Given the description of an element on the screen output the (x, y) to click on. 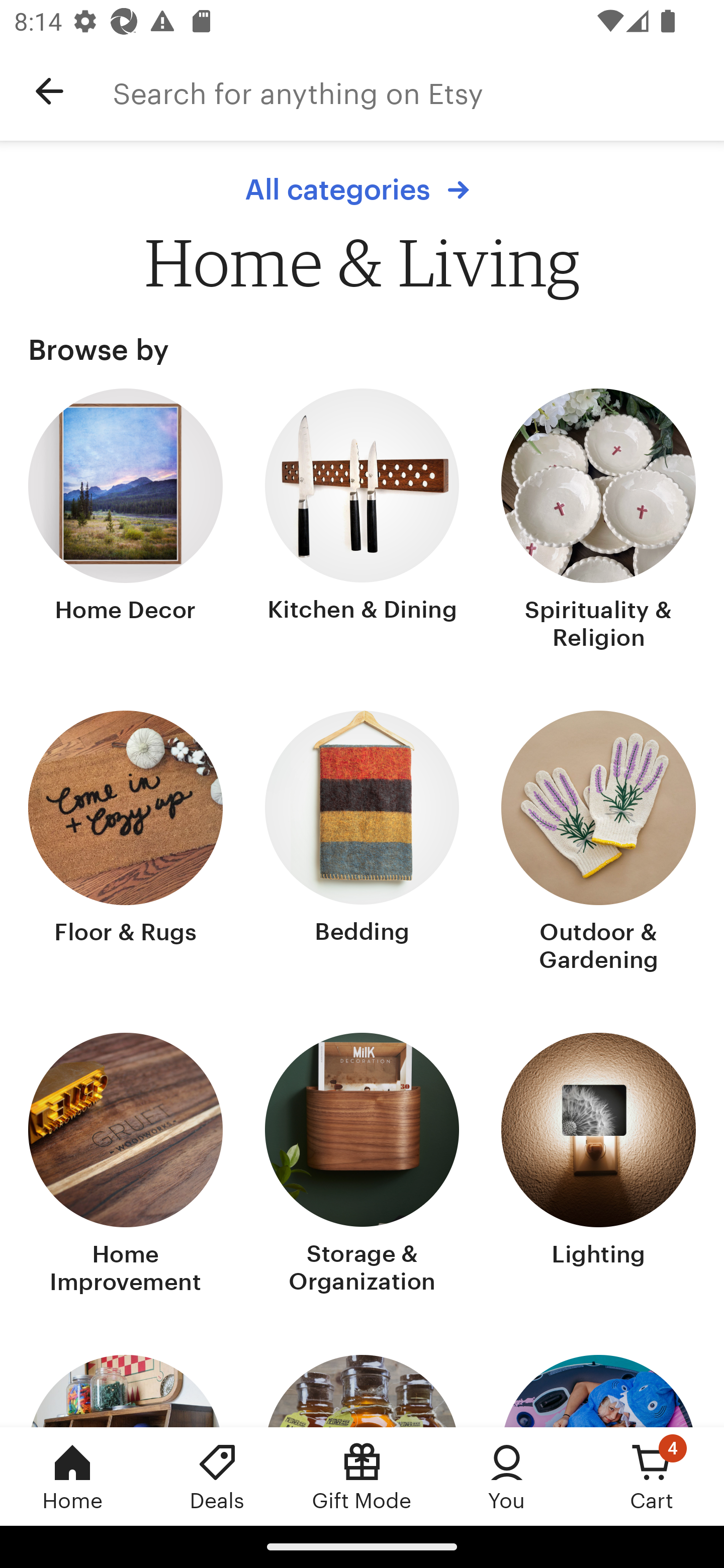
Navigate up (49, 91)
Search for anything on Etsy (418, 91)
All categories (361, 189)
Home Decor (125, 520)
Kitchen & Dining (361, 520)
Spirituality & Religion (598, 520)
Floor & Rugs (125, 843)
Bedding (361, 843)
Outdoor & Gardening (598, 843)
Home Improvement (125, 1165)
Storage & Organization (361, 1165)
Lighting (598, 1165)
Deals (216, 1475)
Gift Mode (361, 1475)
You (506, 1475)
Cart, 4 new notifications Cart (651, 1475)
